Given the description of an element on the screen output the (x, y) to click on. 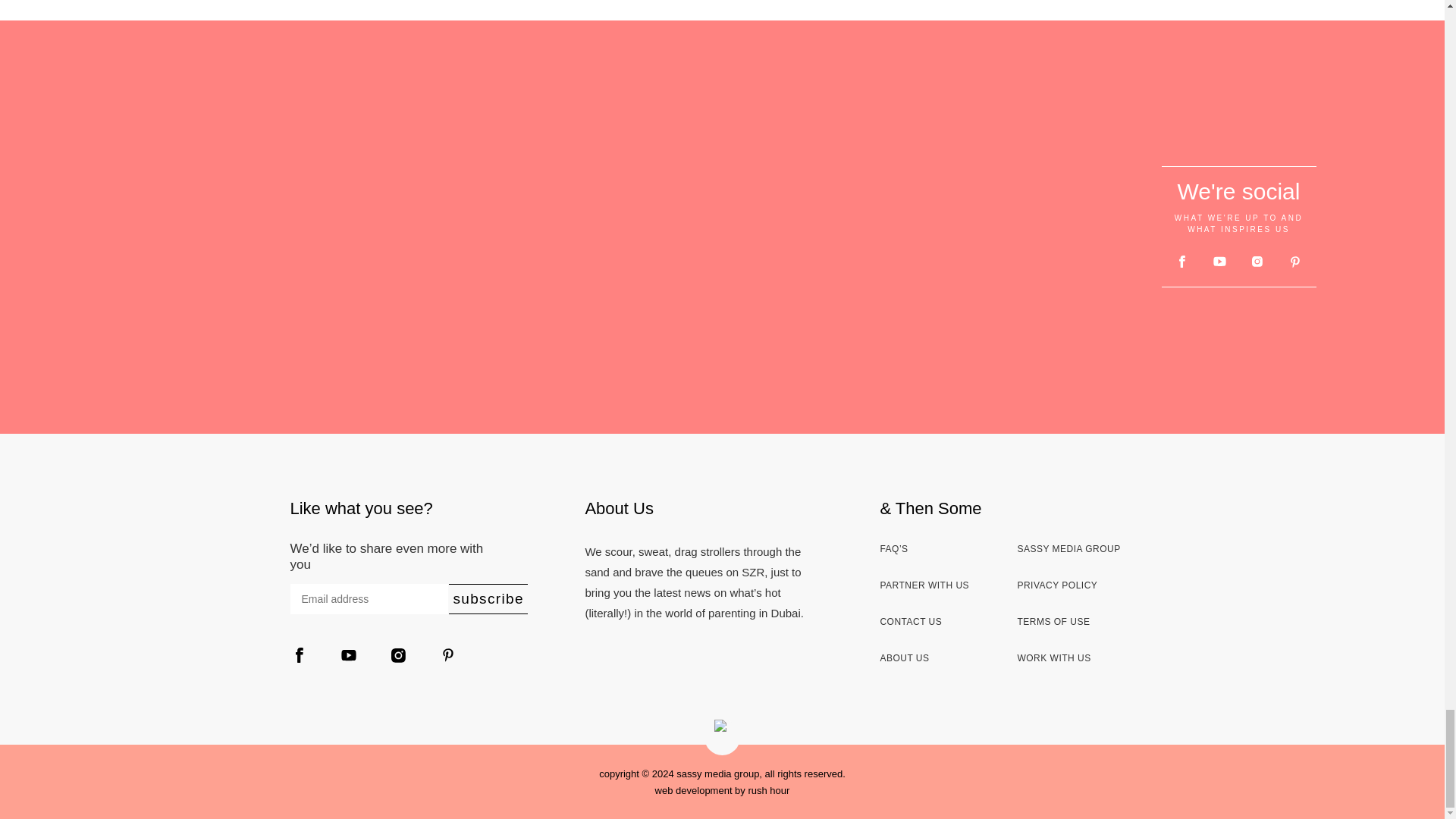
Subscribe (487, 598)
